Given the description of an element on the screen output the (x, y) to click on. 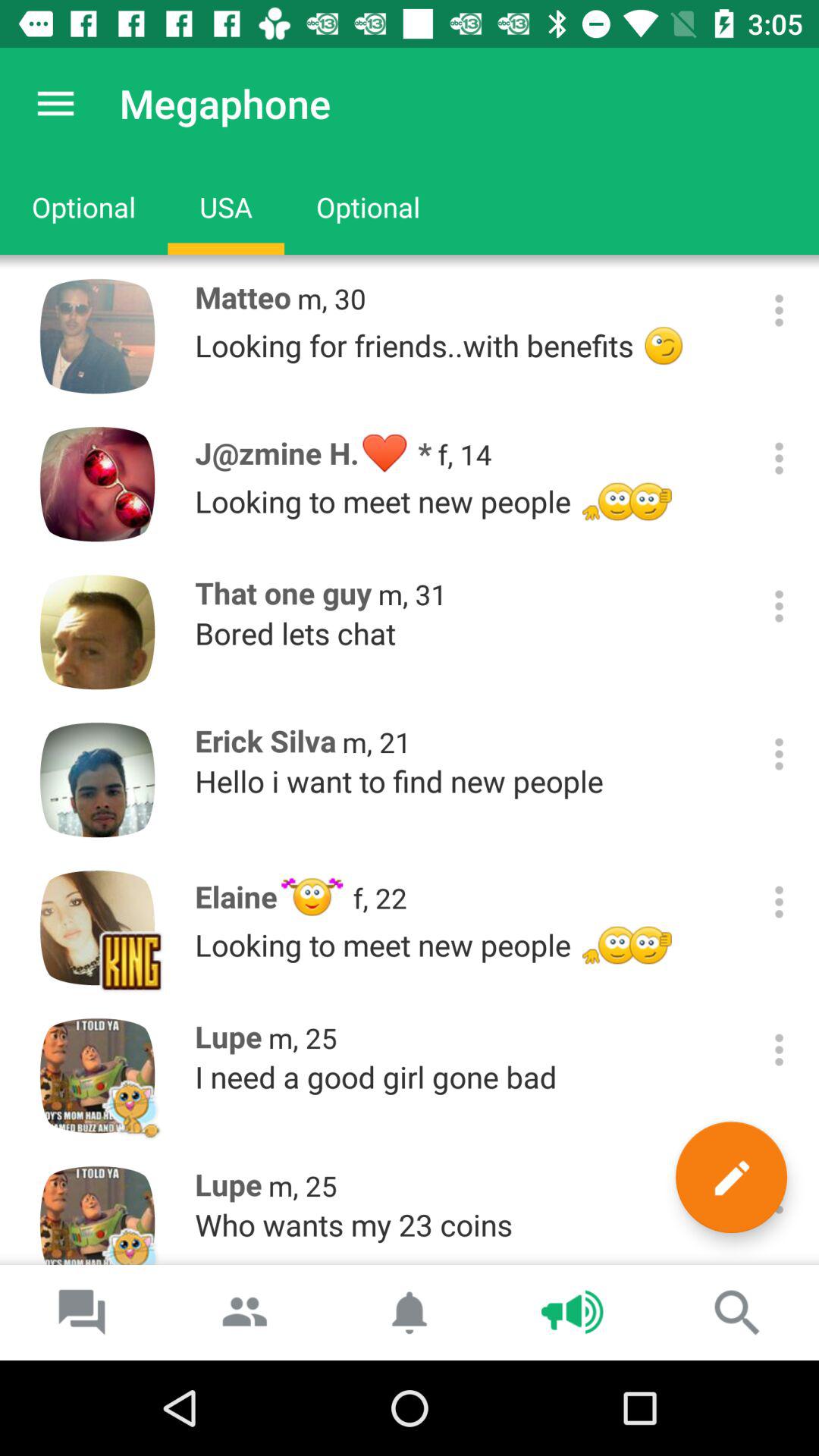
select icon next to m, 25 icon (731, 1177)
